Given the description of an element on the screen output the (x, y) to click on. 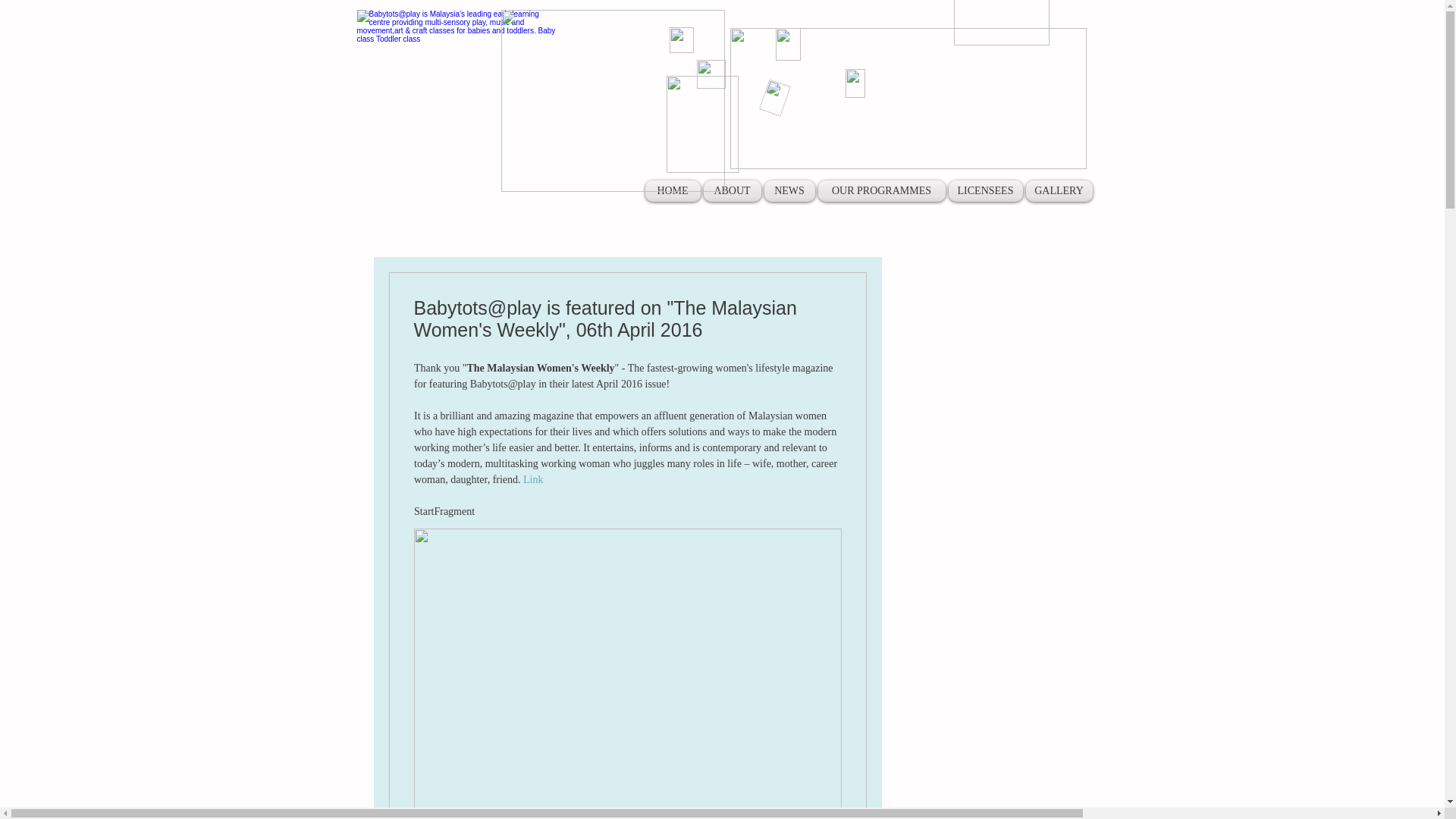
LICENSEES (984, 190)
HOME (673, 190)
OUR PROGRAMMES (880, 190)
ABOUT (731, 190)
GALLERY (1057, 190)
NEWS (789, 190)
Link (532, 479)
